Given the description of an element on the screen output the (x, y) to click on. 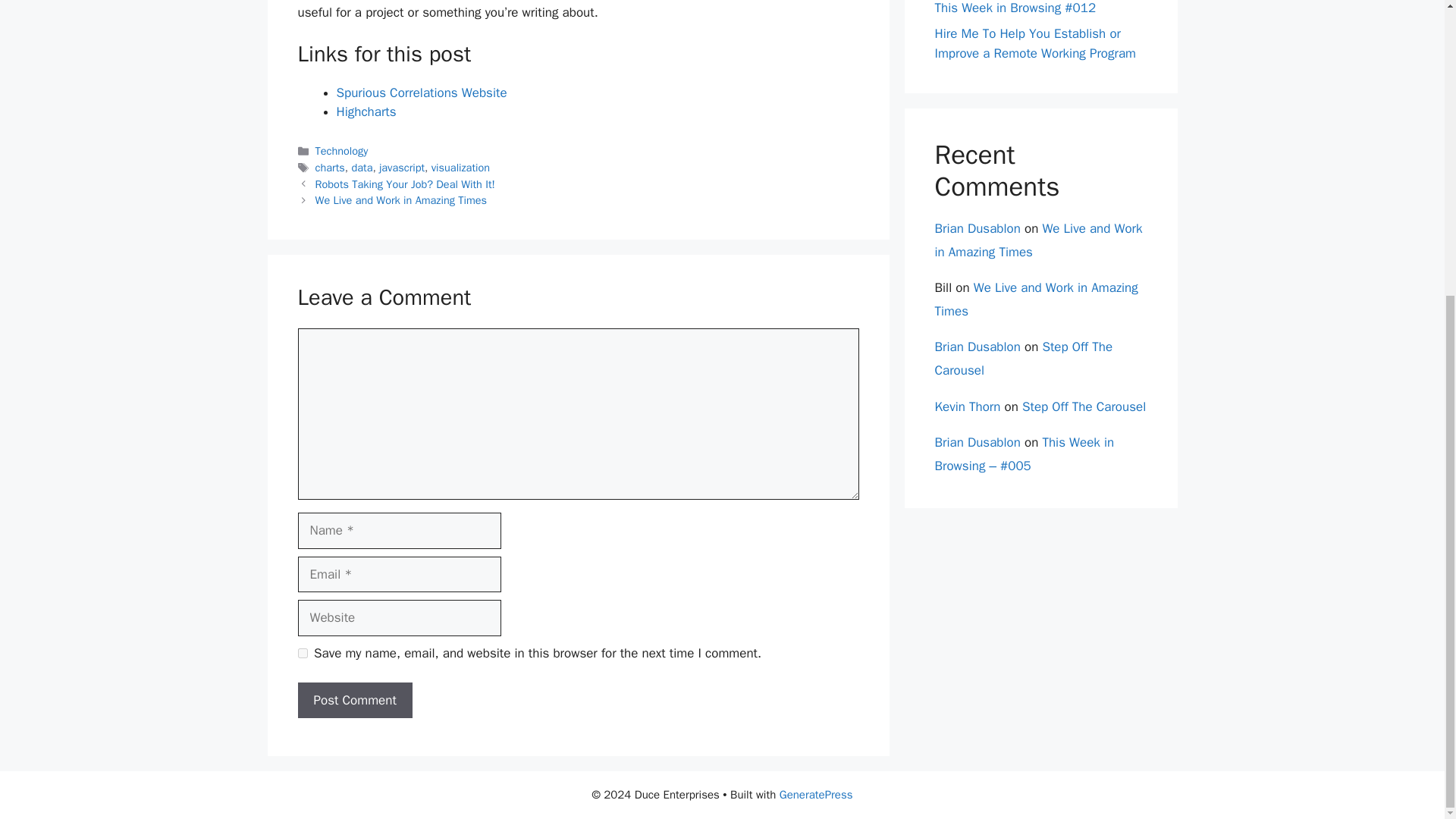
We Live and Work in Amazing Times (1035, 299)
Post Comment (354, 700)
GeneratePress (815, 794)
Brian Dusablon (977, 228)
Post Comment (354, 700)
We Live and Work in Amazing Times (400, 200)
Step Off The Carousel (1023, 358)
Highcharts (366, 111)
visualization (459, 167)
javascript (401, 167)
Kevin Thorn (967, 406)
Robots Taking Your Job? Deal With It! (405, 183)
yes (302, 653)
